Given the description of an element on the screen output the (x, y) to click on. 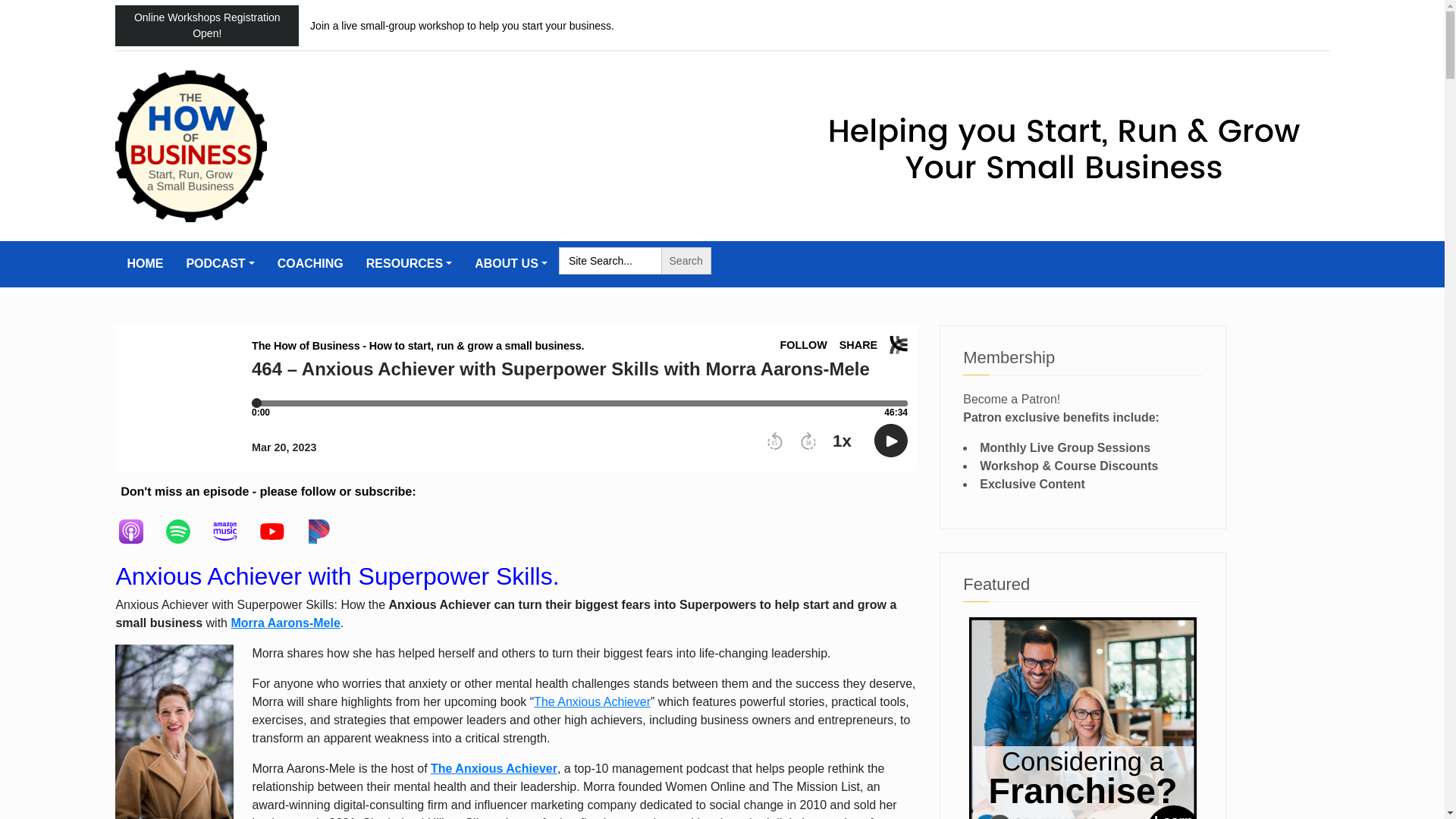
Home (144, 264)
Podcast (219, 264)
Coaching (310, 264)
Search (686, 260)
PODCAST (219, 264)
The Anxious Achiever (493, 768)
Search (686, 260)
RESOURCES (409, 264)
Resources (409, 264)
ABOUT US (511, 264)
Morra Aarons-Mele (284, 622)
HOME (144, 264)
The Anxious Achiever (592, 701)
COACHING (310, 264)
Search (686, 260)
